Given the description of an element on the screen output the (x, y) to click on. 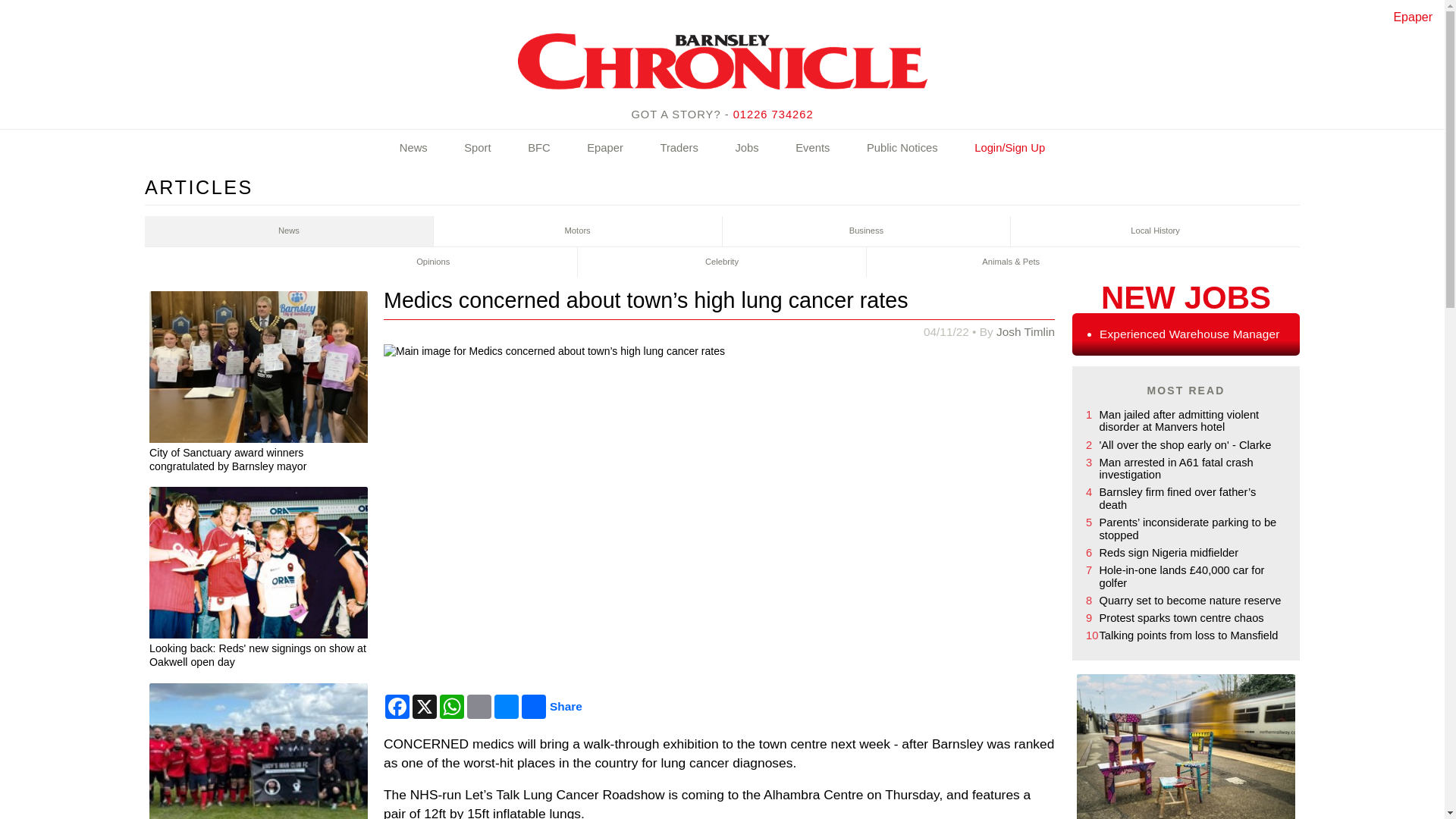
Sport (477, 148)
Celebrity (722, 262)
Traders (678, 148)
Local History (1155, 231)
Jobs (745, 148)
BFC (539, 148)
Public Notices (902, 148)
Epaper (1412, 16)
Business (866, 231)
News (288, 231)
